Given the description of an element on the screen output the (x, y) to click on. 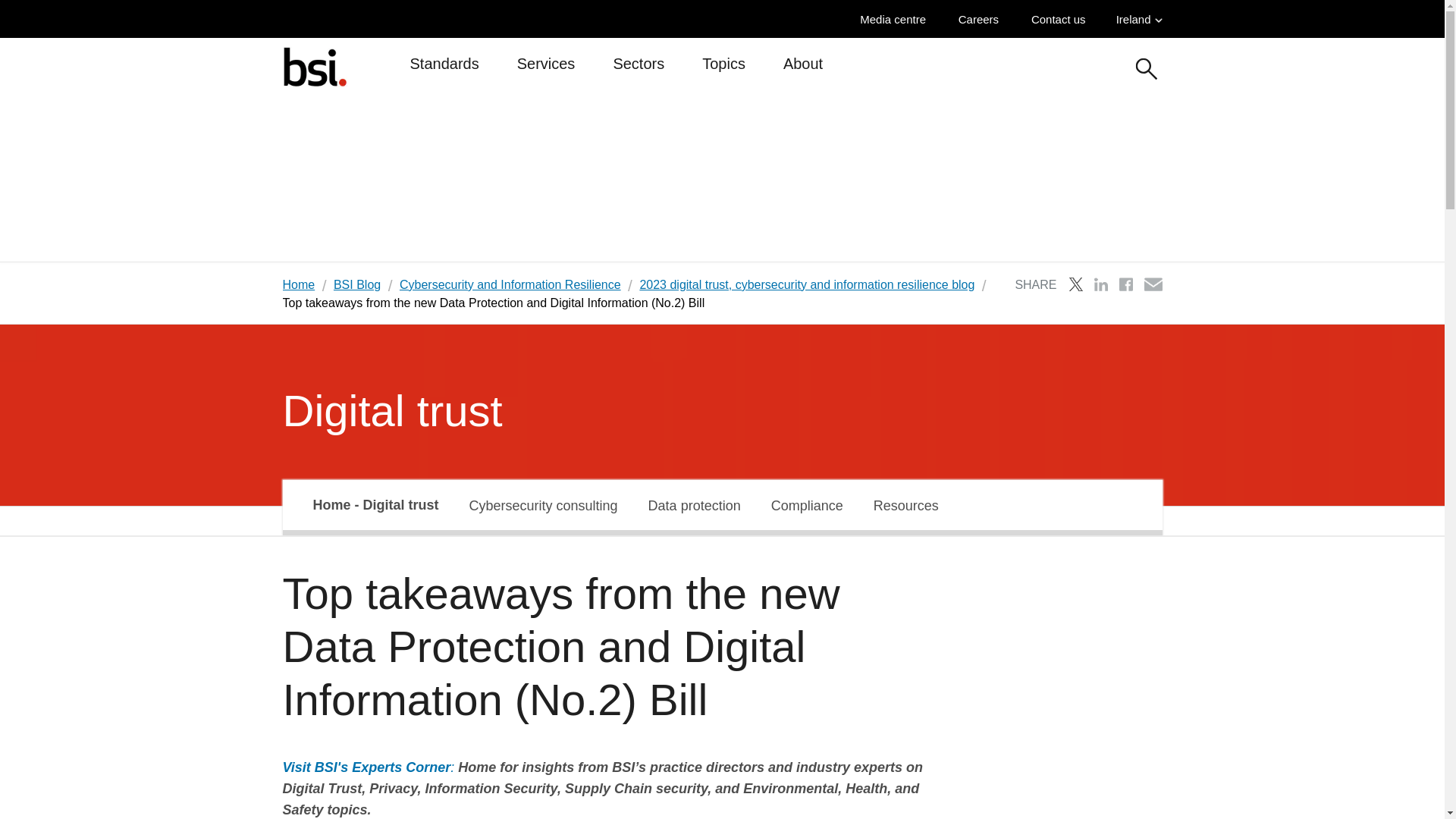
Media centre (896, 19)
Ireland (1138, 19)
Media centre (896, 19)
Standards (444, 70)
logo (314, 65)
Contact us (1061, 19)
Contact us (1061, 19)
Careers (982, 19)
Careers (982, 19)
